Given the description of an element on the screen output the (x, y) to click on. 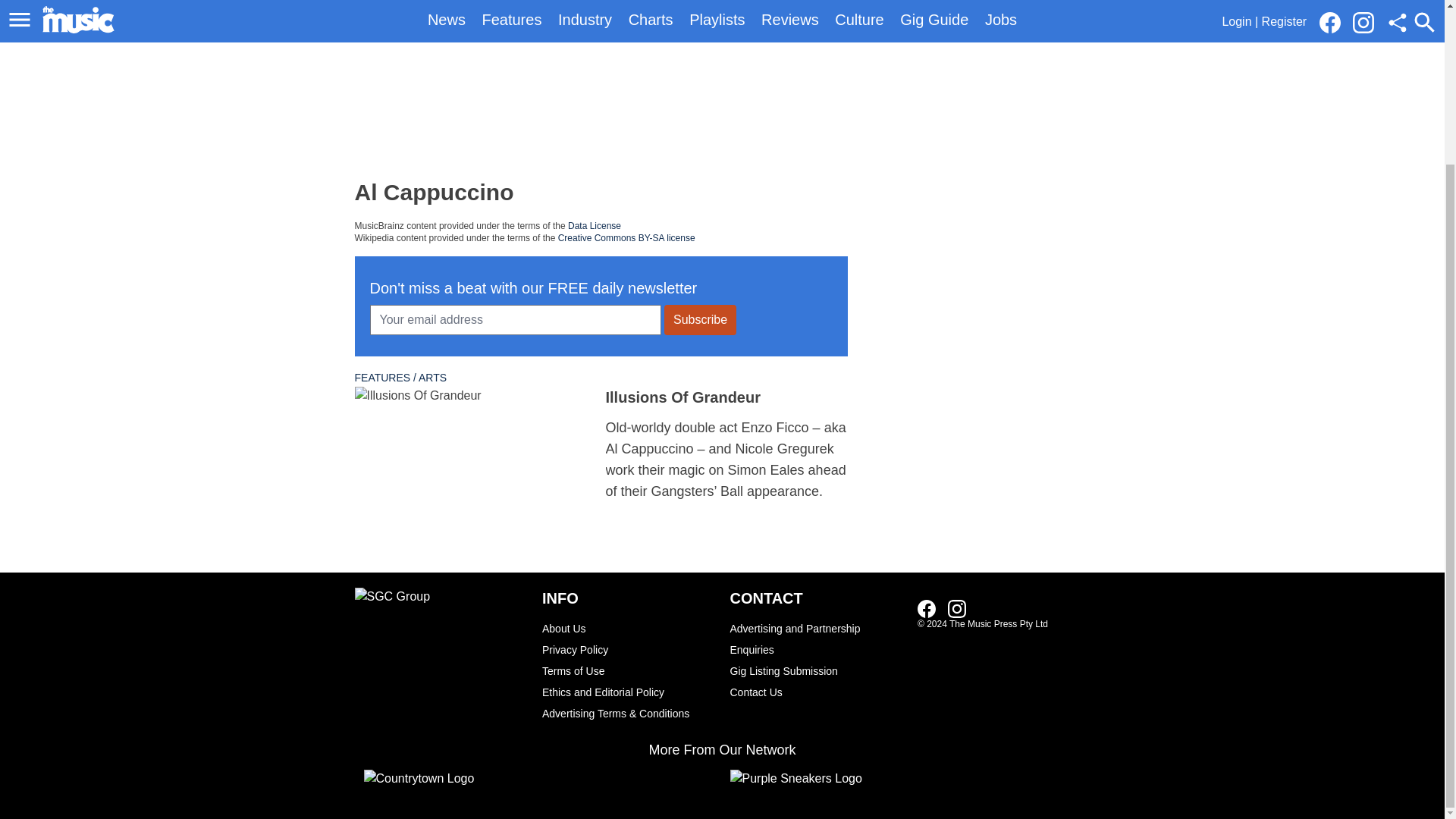
Terms of Use (627, 670)
Subscribe (699, 319)
Creative Commons BY-SA license (626, 237)
Data License (594, 225)
Ethics and Editorial Policy (627, 691)
Contact Us (815, 691)
Gig Listing Submission (815, 670)
About Us (627, 628)
Link to our Facebook (930, 608)
Link to our Facebook (926, 608)
Privacy Policy (627, 649)
Link to our Instagram (961, 608)
Link to our Instagram (956, 608)
Advertising and Partnership Enquiries (815, 639)
